Given the description of an element on the screen output the (x, y) to click on. 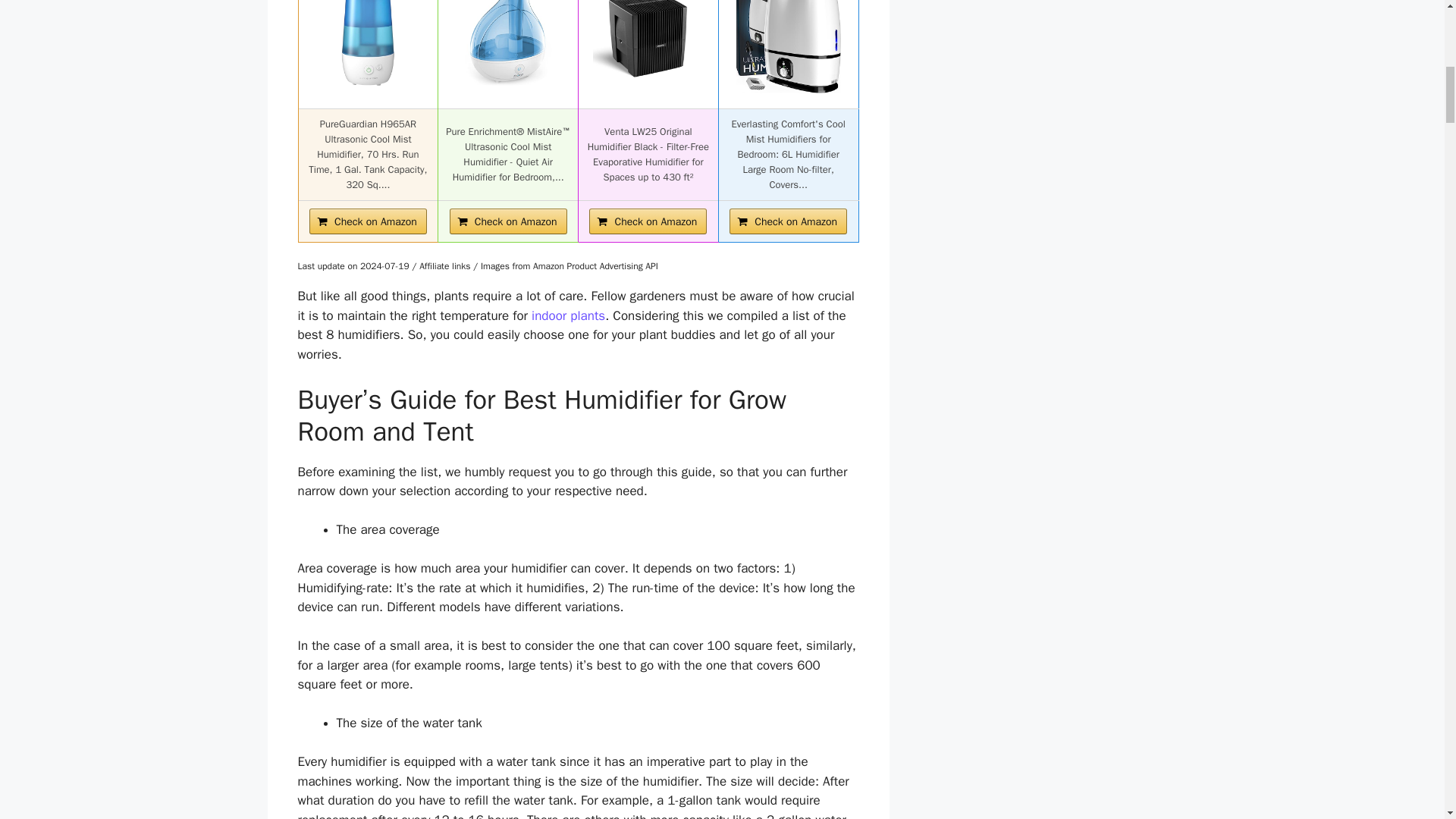
Check on Amazon (788, 220)
Check on Amazon (647, 220)
Check on Amazon (508, 220)
Check on Amazon (508, 220)
Check on Amazon (788, 220)
indoor plants (568, 315)
Check on Amazon (647, 220)
Check on Amazon (367, 220)
Check on Amazon (367, 220)
